Given the description of an element on the screen output the (x, y) to click on. 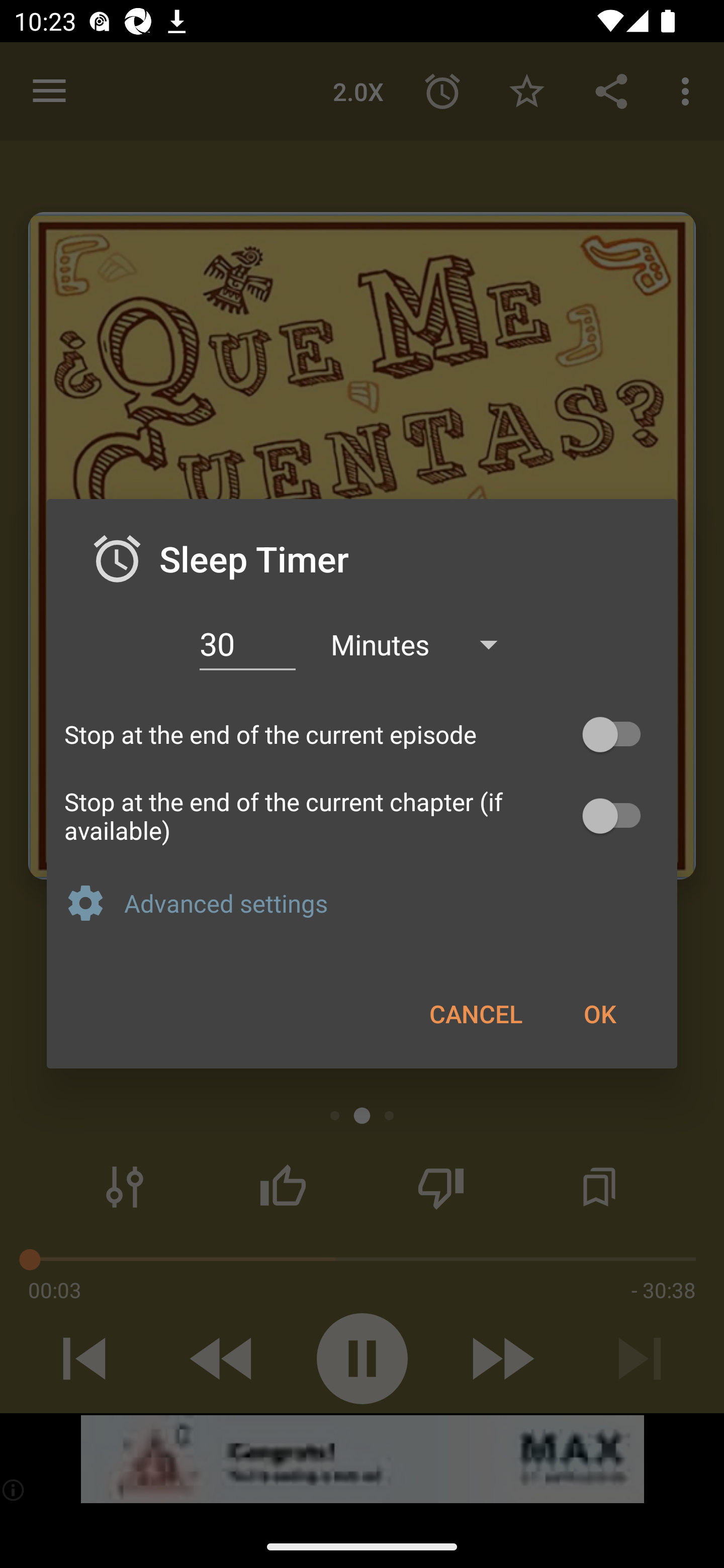
30 (247, 644)
Minutes (423, 643)
Stop at the end of the current episode (361, 734)
Advanced settings (391, 902)
CANCEL (475, 1013)
OK (599, 1013)
